Given the description of an element on the screen output the (x, y) to click on. 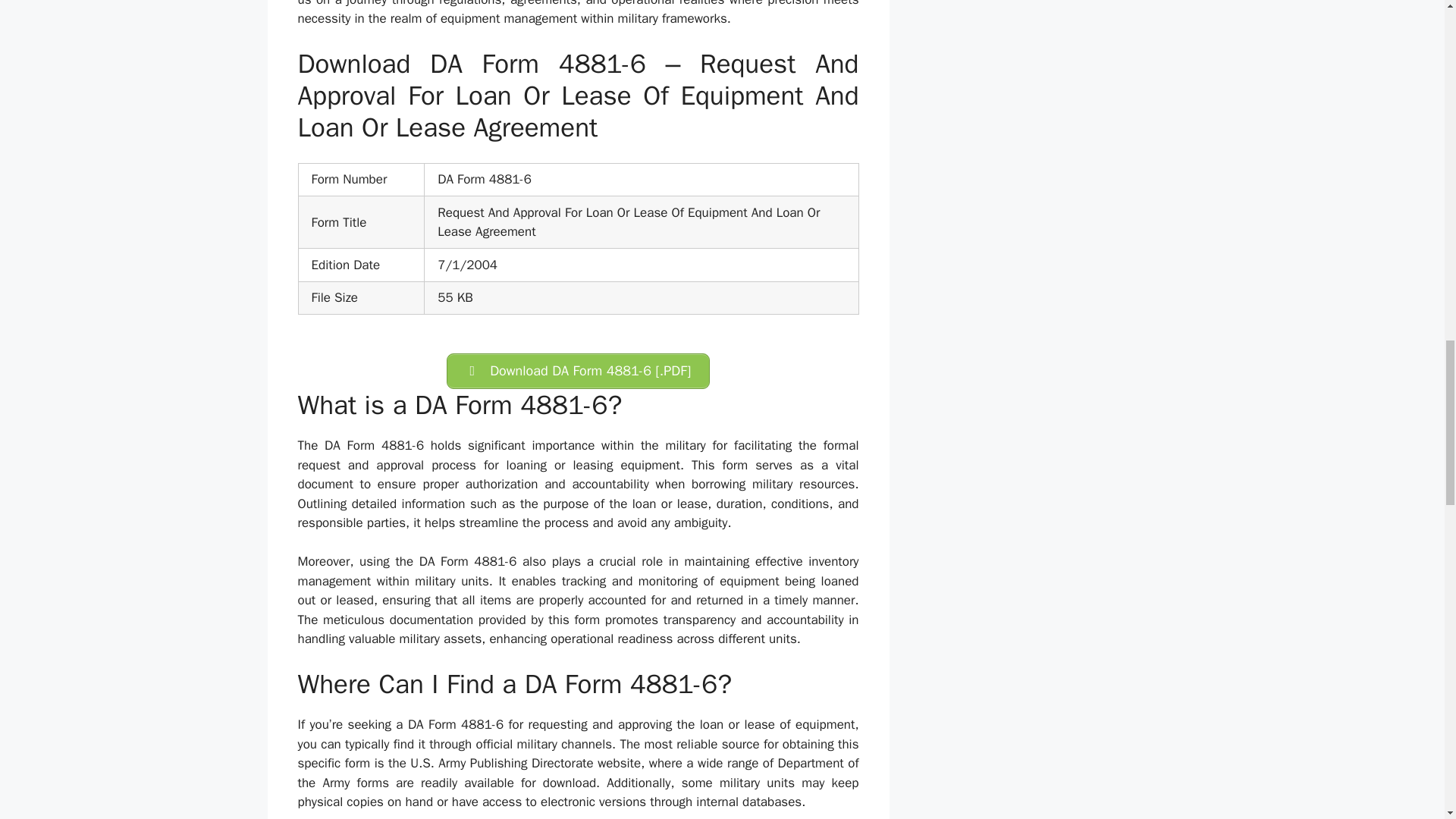
Download DA Form 4881-6 (578, 370)
